Given the description of an element on the screen output the (x, y) to click on. 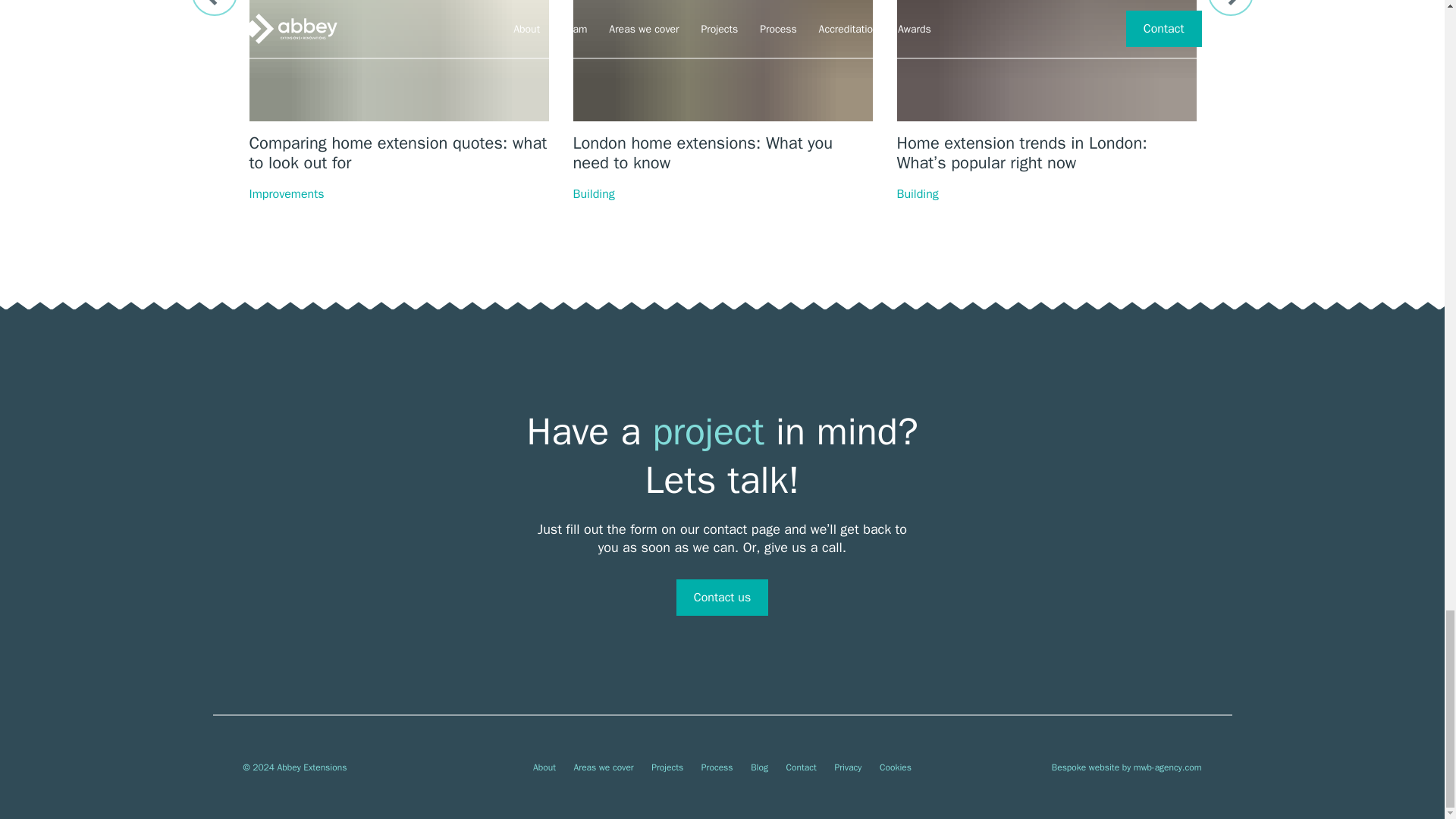
MWB Agency (1168, 767)
Bespoke website (1085, 767)
